Given the description of an element on the screen output the (x, y) to click on. 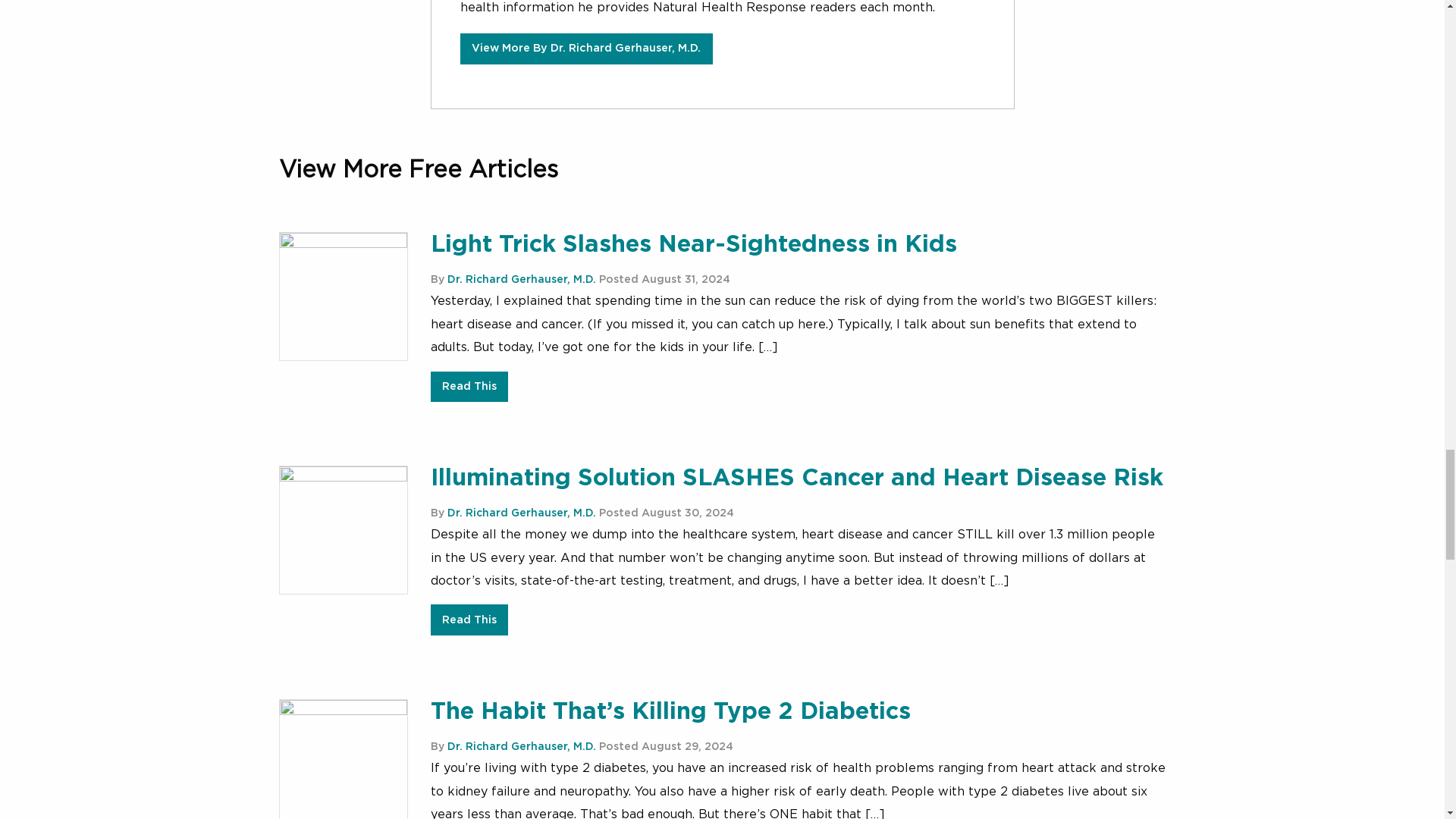
Light Trick Slashes Near-Sightedness in Kids (693, 244)
Illuminating Solution SLASHES Cancer and Heart Disease Risk (796, 477)
Dr. Richard Gerhauser, M.D. (520, 747)
Read This (469, 619)
View More By Dr. Richard Gerhauser, M.D. (586, 48)
Dr. Richard Gerhauser, M.D. (520, 512)
Dr. Richard Gerhauser, M.D. (520, 279)
Read This (469, 386)
